Given the description of an element on the screen output the (x, y) to click on. 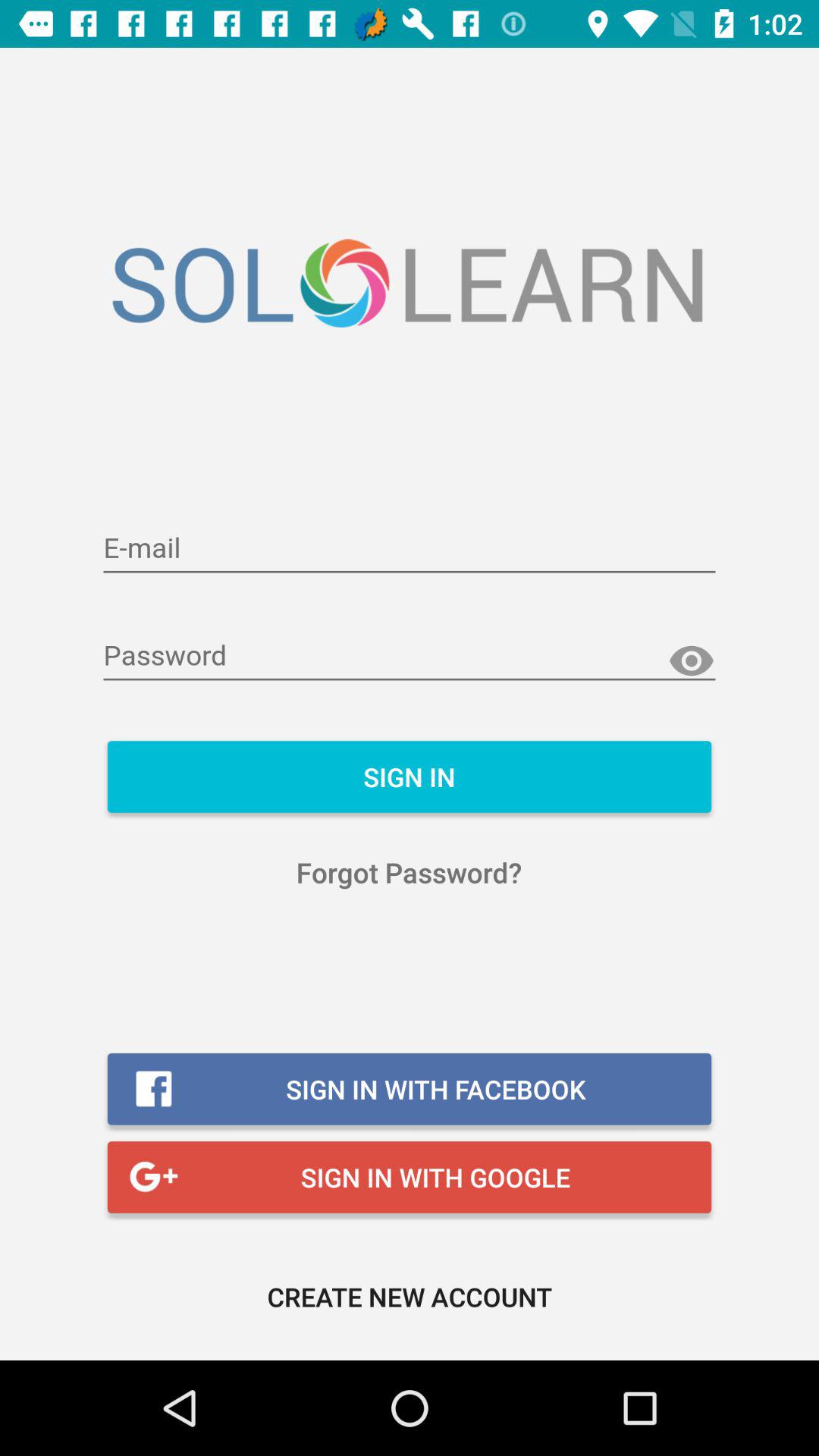
put your email (409, 548)
